Given the description of an element on the screen output the (x, y) to click on. 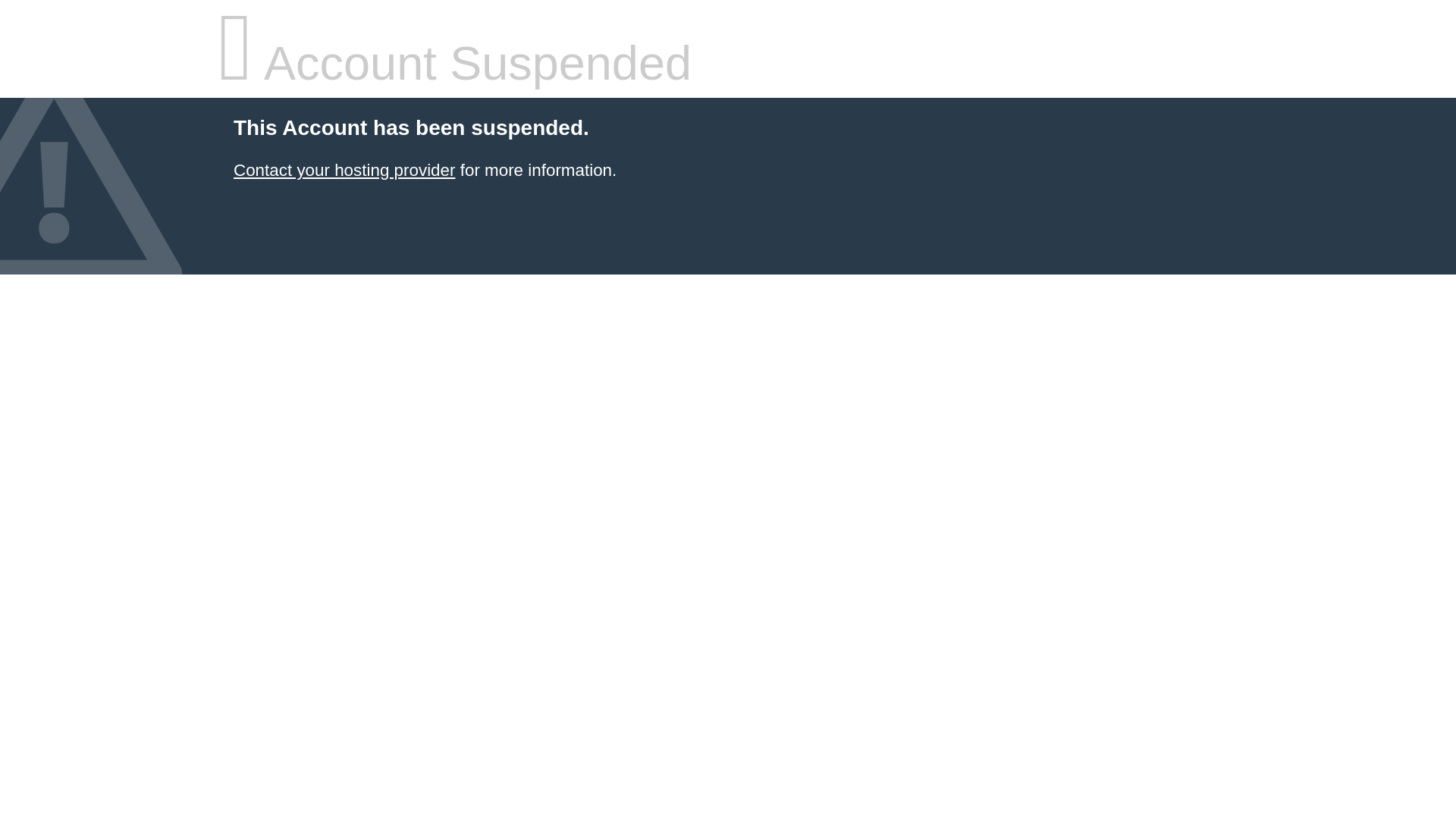
Contact your hosting provider (343, 169)
